Given the description of an element on the screen output the (x, y) to click on. 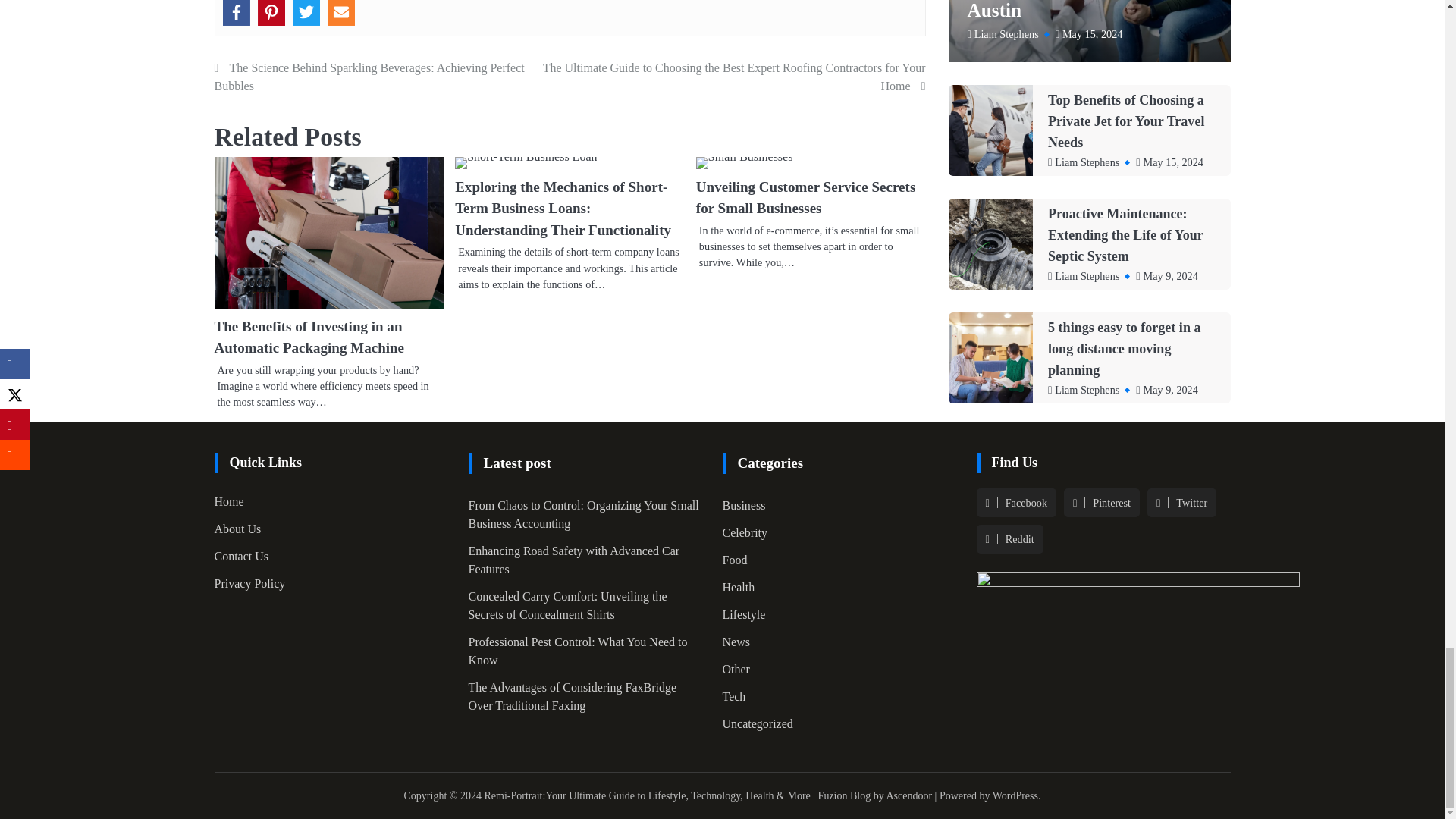
Twitter (306, 12)
Facebook (236, 12)
Pinterest (271, 12)
User email (341, 12)
